Given the description of an element on the screen output the (x, y) to click on. 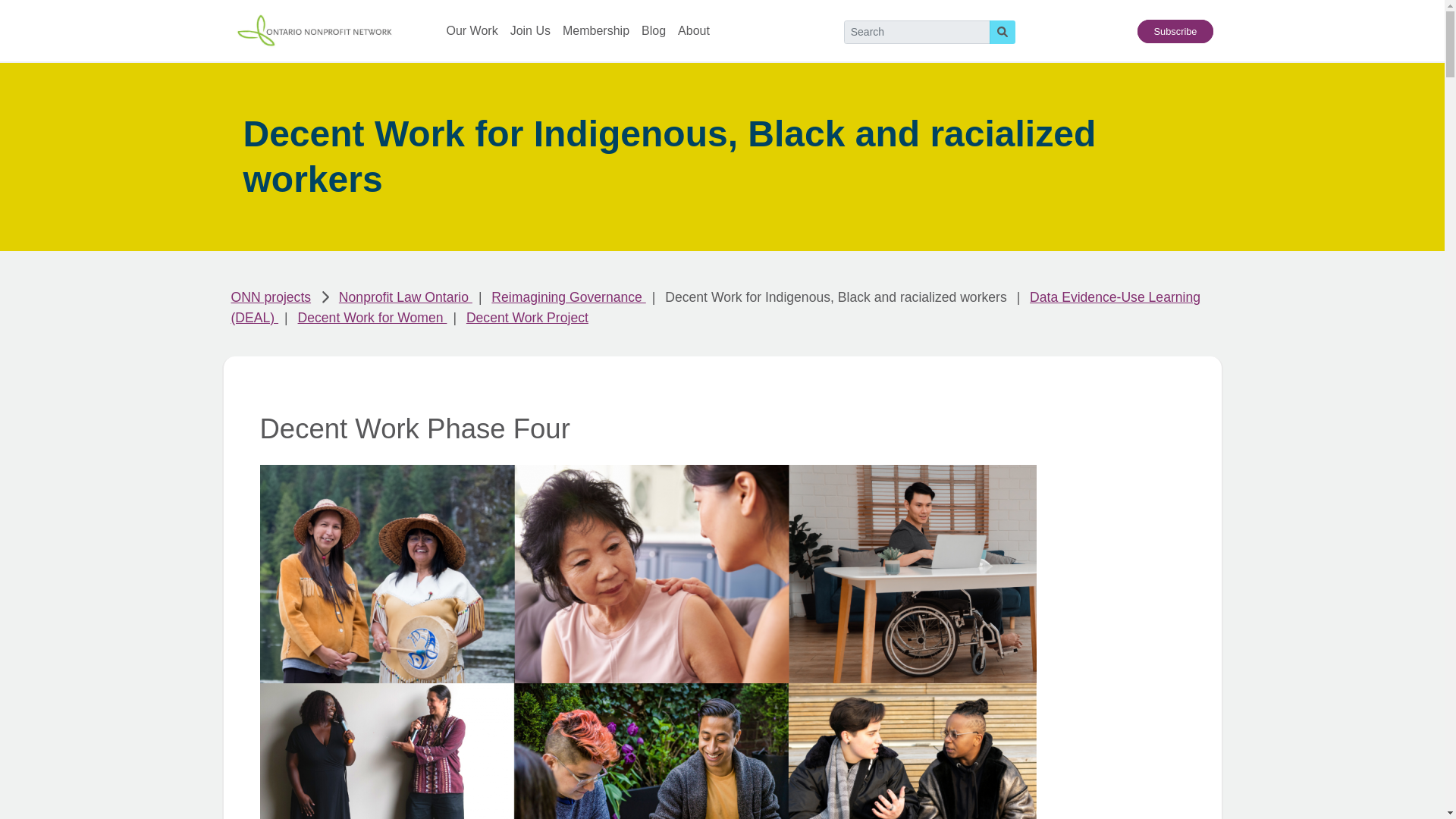
Our Work (471, 30)
Decent Work Project (526, 317)
Decent Work for Women (372, 317)
Subscribe (1175, 31)
Membership (595, 30)
Nonprofit Law Ontario (405, 296)
Join Us (530, 30)
About (694, 30)
ONN projects (270, 296)
Blog (653, 30)
Reimagining Governance (568, 296)
